Given the description of an element on the screen output the (x, y) to click on. 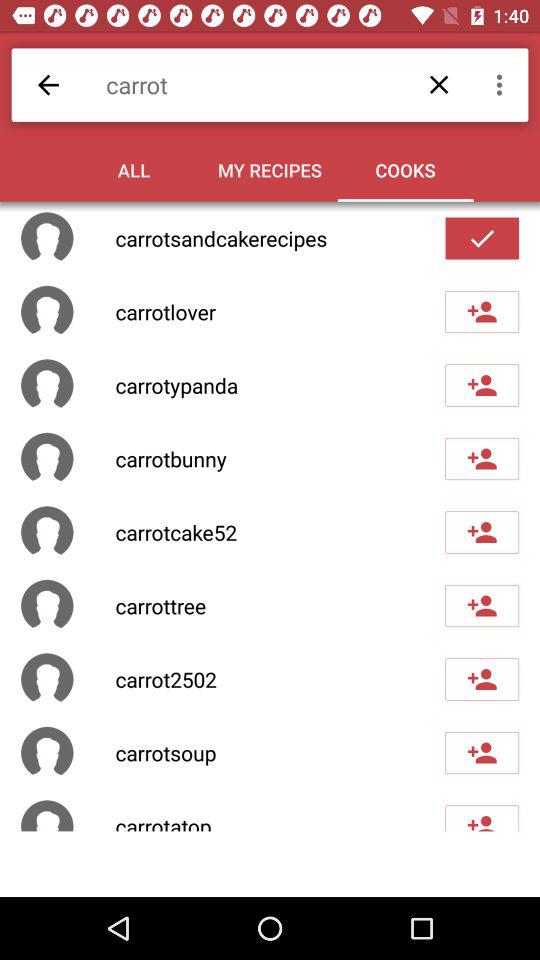
add friend (482, 606)
